Given the description of an element on the screen output the (x, y) to click on. 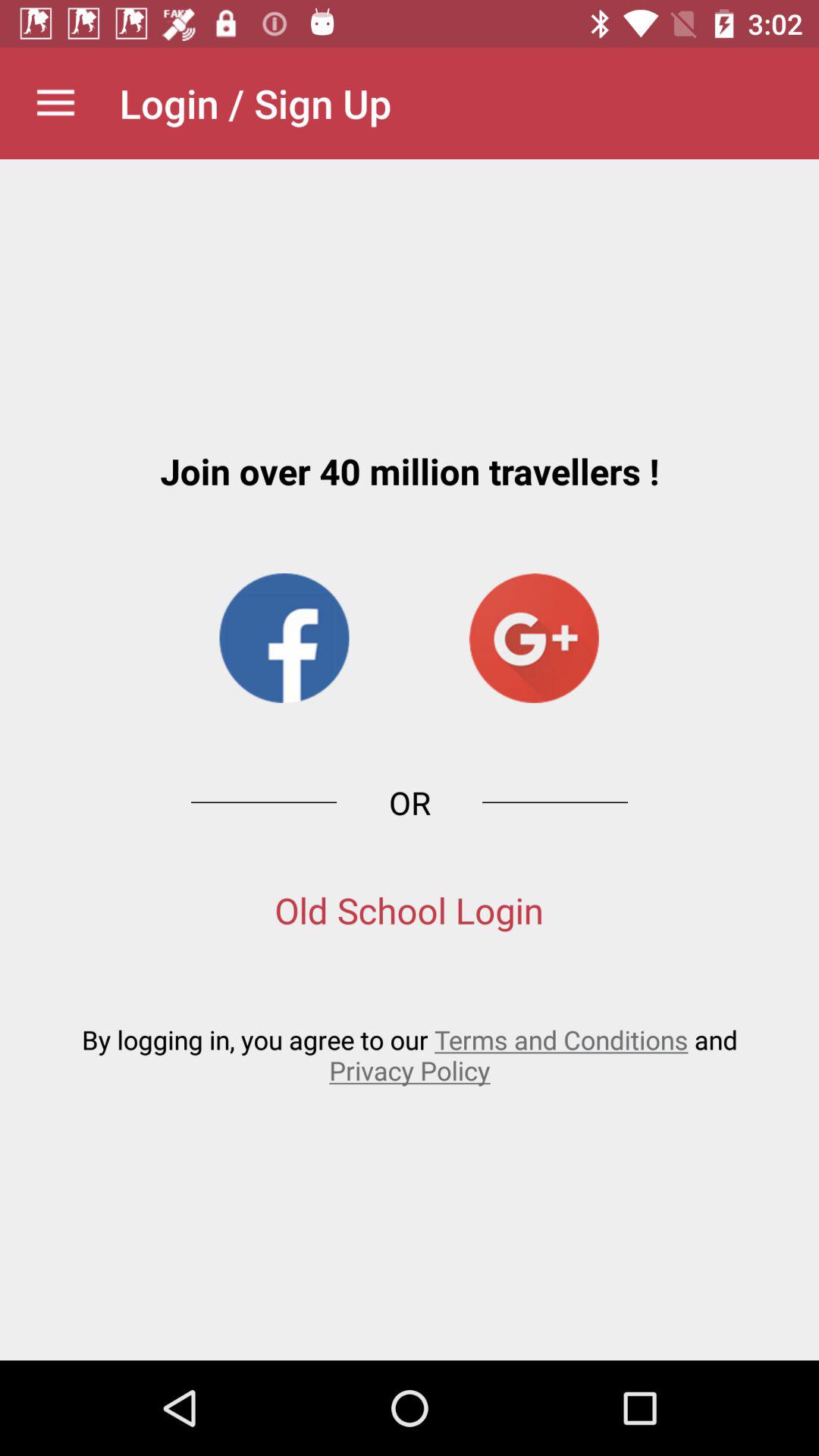
login with facebook (284, 637)
